Given the description of an element on the screen output the (x, y) to click on. 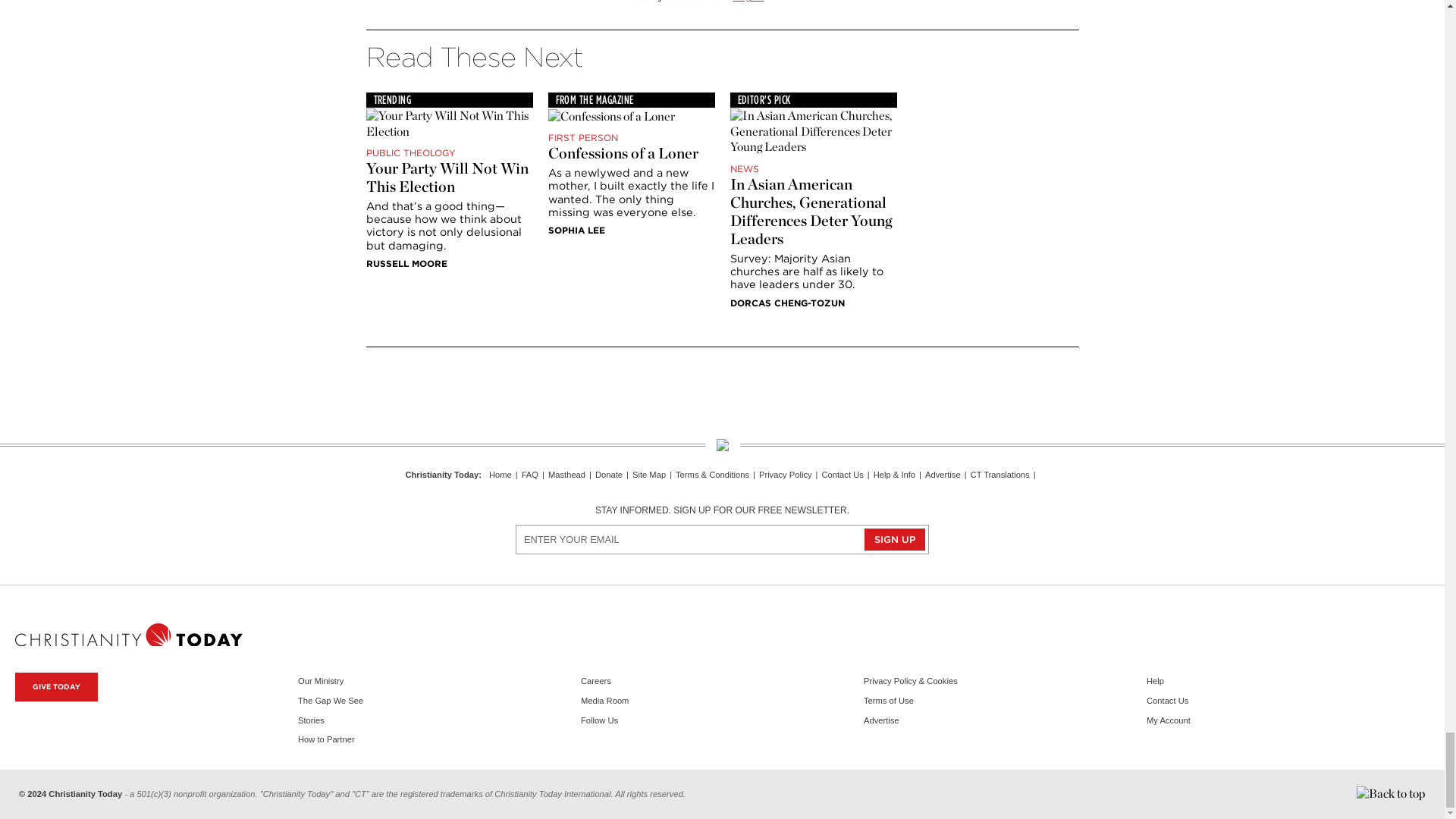
Sign Up (894, 539)
